Given the description of an element on the screen output the (x, y) to click on. 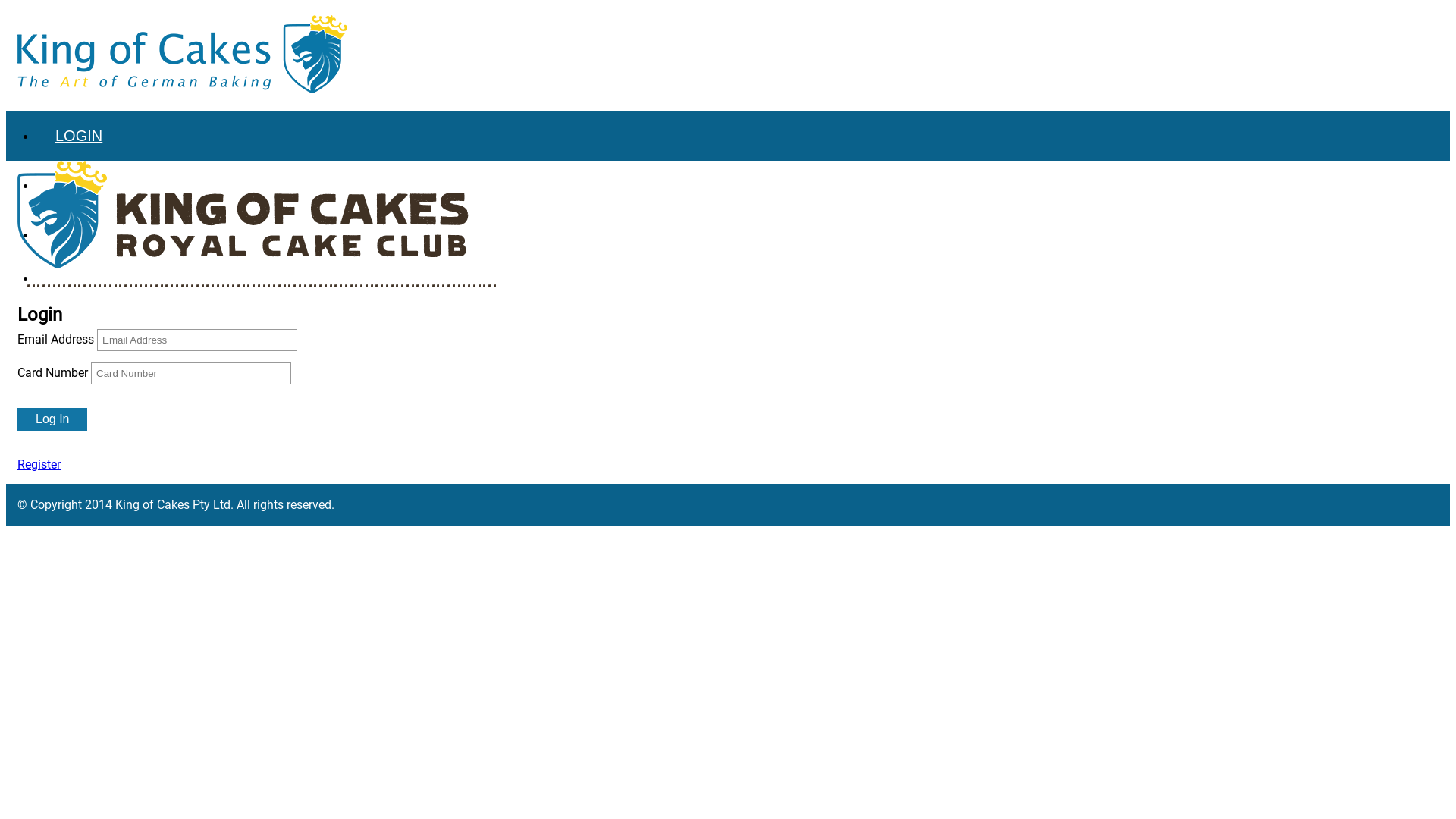
REGISTER Element type: text (742, 185)
BACK TO MAIN WEBSITE Element type: text (742, 234)
Register Element type: text (38, 464)
LOGIN Element type: text (742, 135)
Log In Element type: text (52, 418)
